Given the description of an element on the screen output the (x, y) to click on. 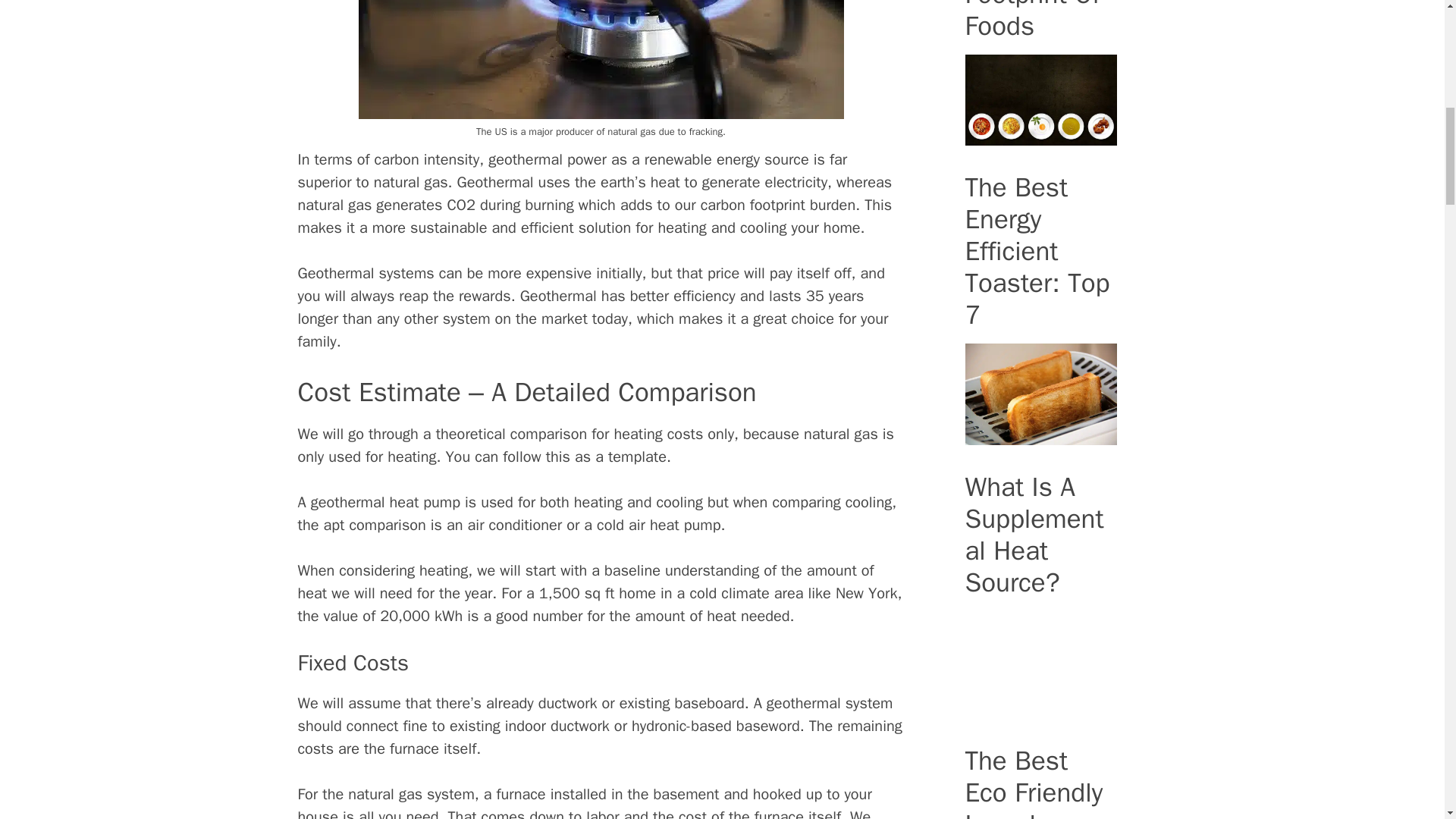
Database For Carbon Footprint Of Foods (1039, 135)
What Is A Supplemental Heat Source? (1039, 709)
superior to natural gas (371, 181)
The Best Energy Efficient Toaster: Top 7 (1039, 434)
